Given the description of an element on the screen output the (x, y) to click on. 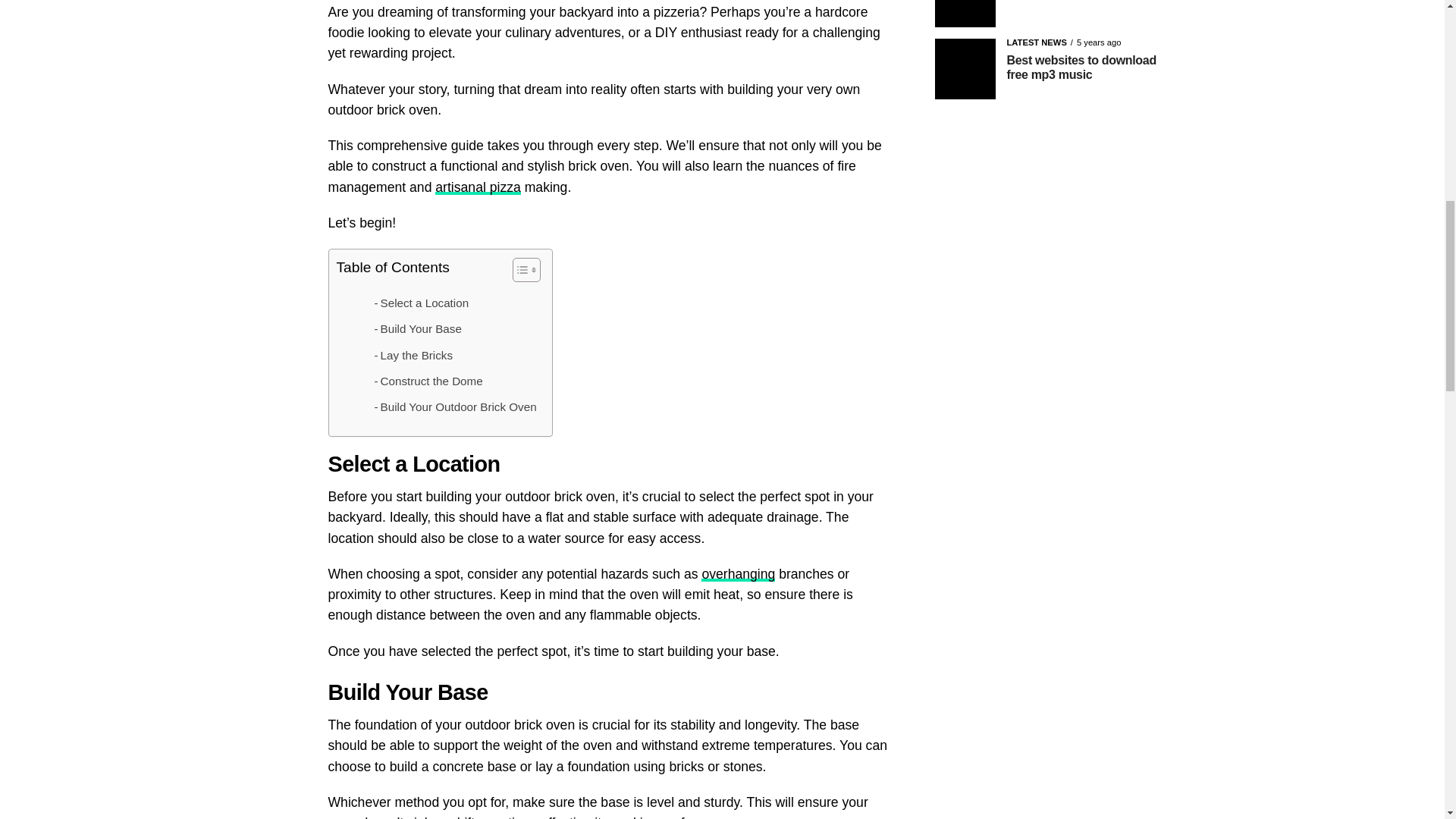
Build Your Outdoor Brick Oven (455, 407)
Construct the Dome (428, 381)
artisanal pizza (477, 186)
Lay the Bricks (413, 355)
Build Your Base (417, 329)
Build Your Base (417, 329)
Lay the Bricks (413, 355)
Construct the Dome (428, 381)
overhanging (737, 573)
Select a Location (421, 303)
